Given the description of an element on the screen output the (x, y) to click on. 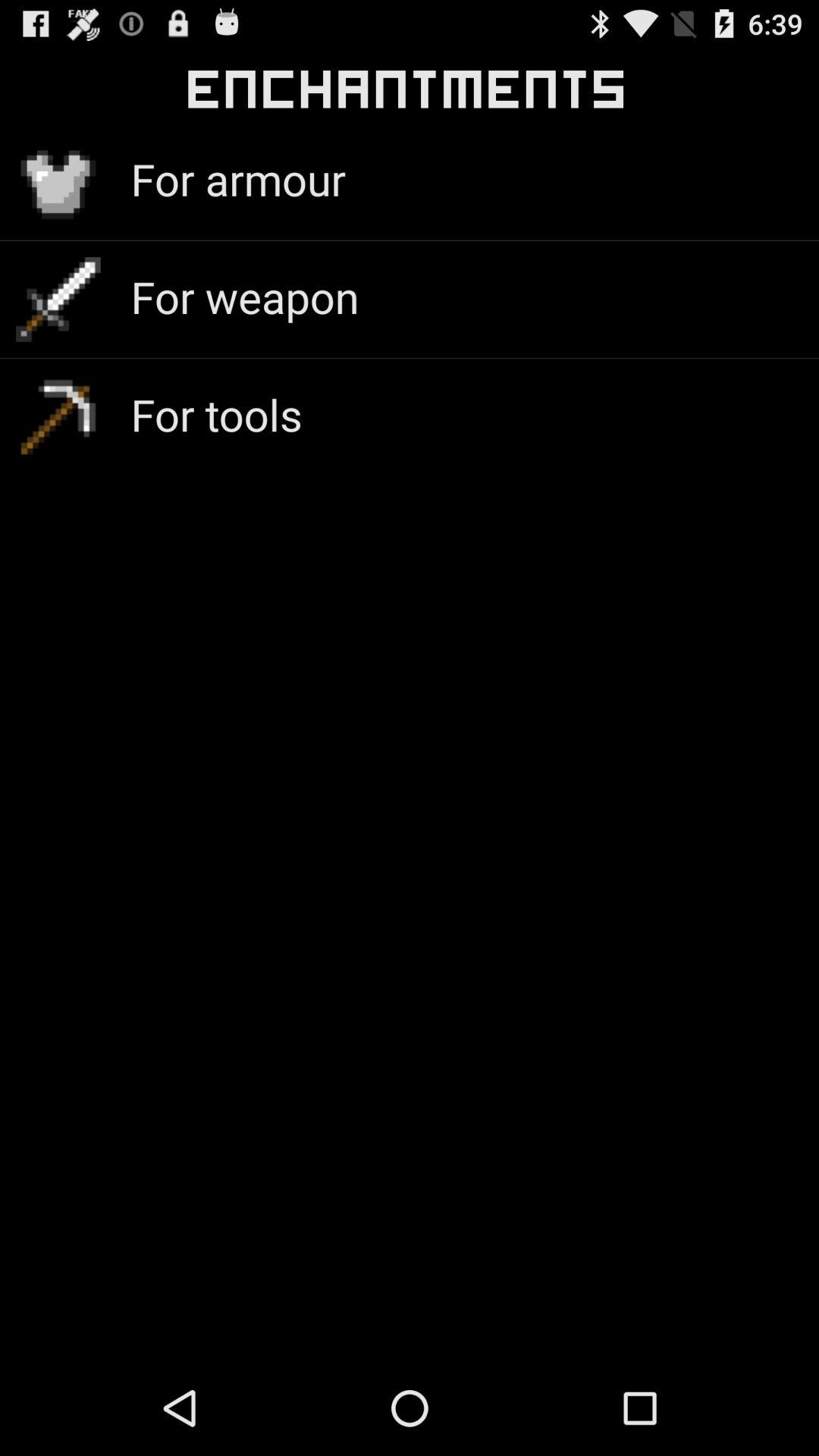
turn off app below for weapon (216, 414)
